Given the description of an element on the screen output the (x, y) to click on. 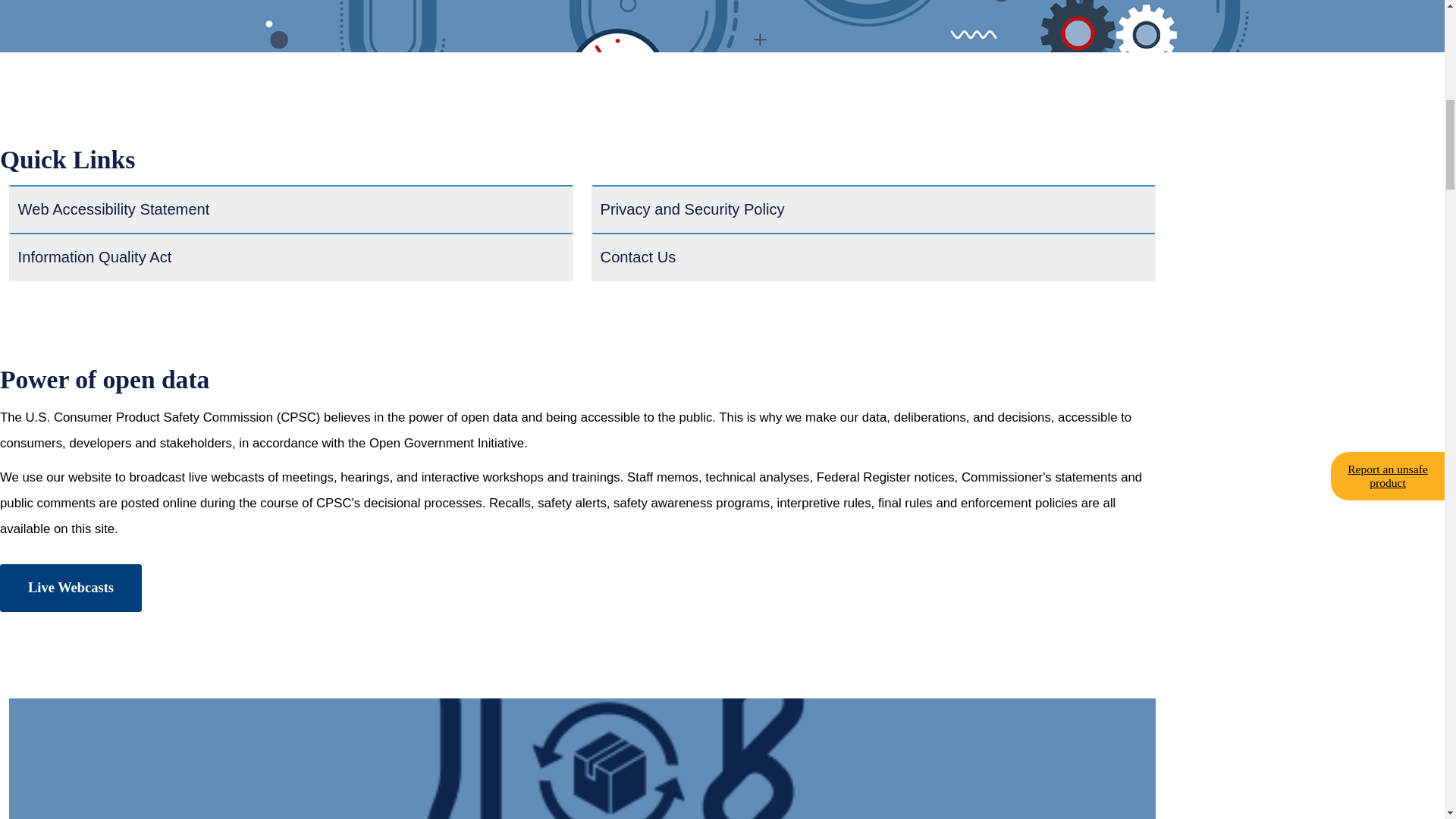
Contact Us (873, 256)
Information Quality Act (290, 256)
Web Accessibility Statement (290, 209)
Privacy and Security Policy (873, 209)
Live Webcasts (70, 587)
